Given the description of an element on the screen output the (x, y) to click on. 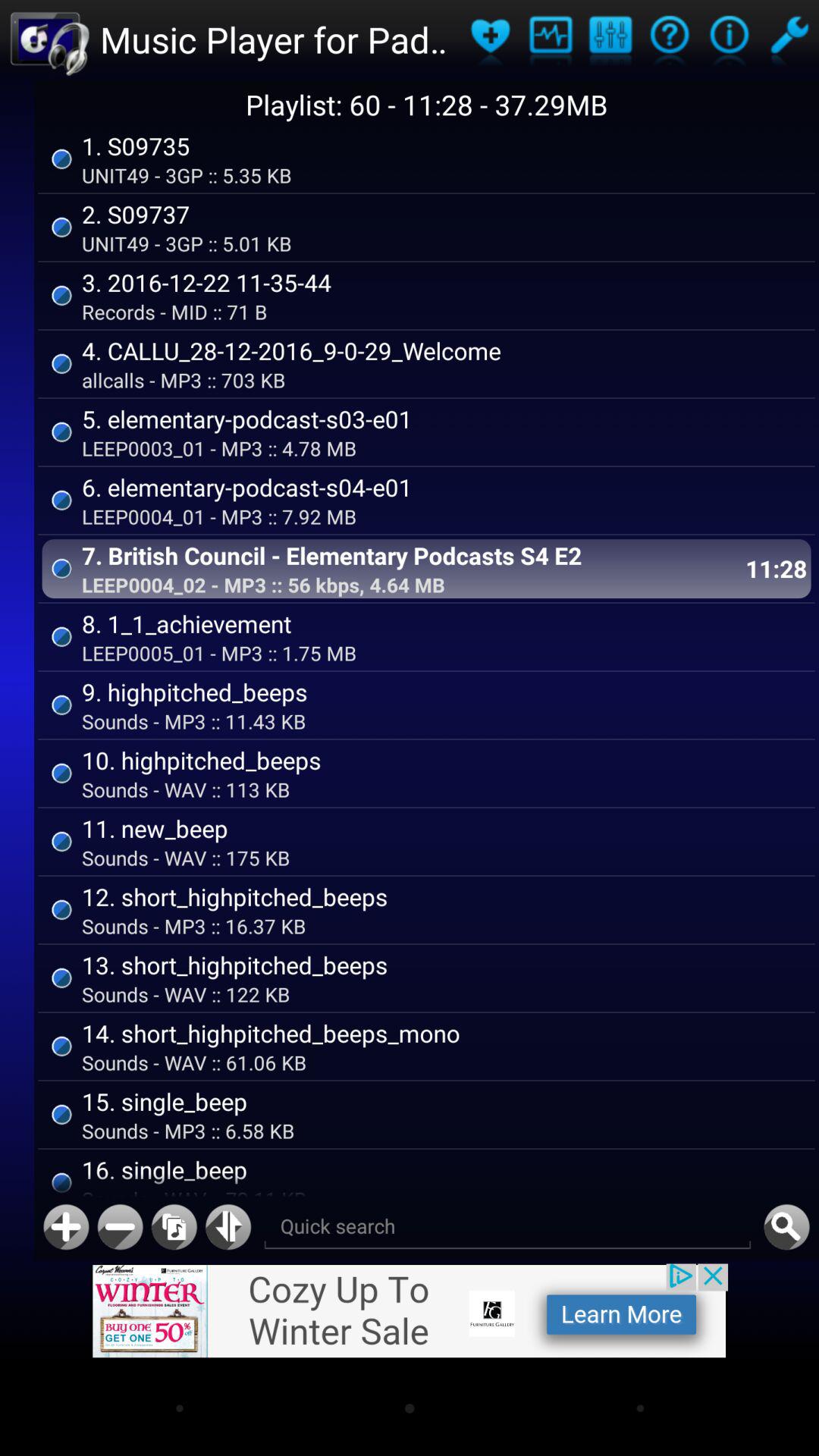
click details option (669, 39)
